Given the description of an element on the screen output the (x, y) to click on. 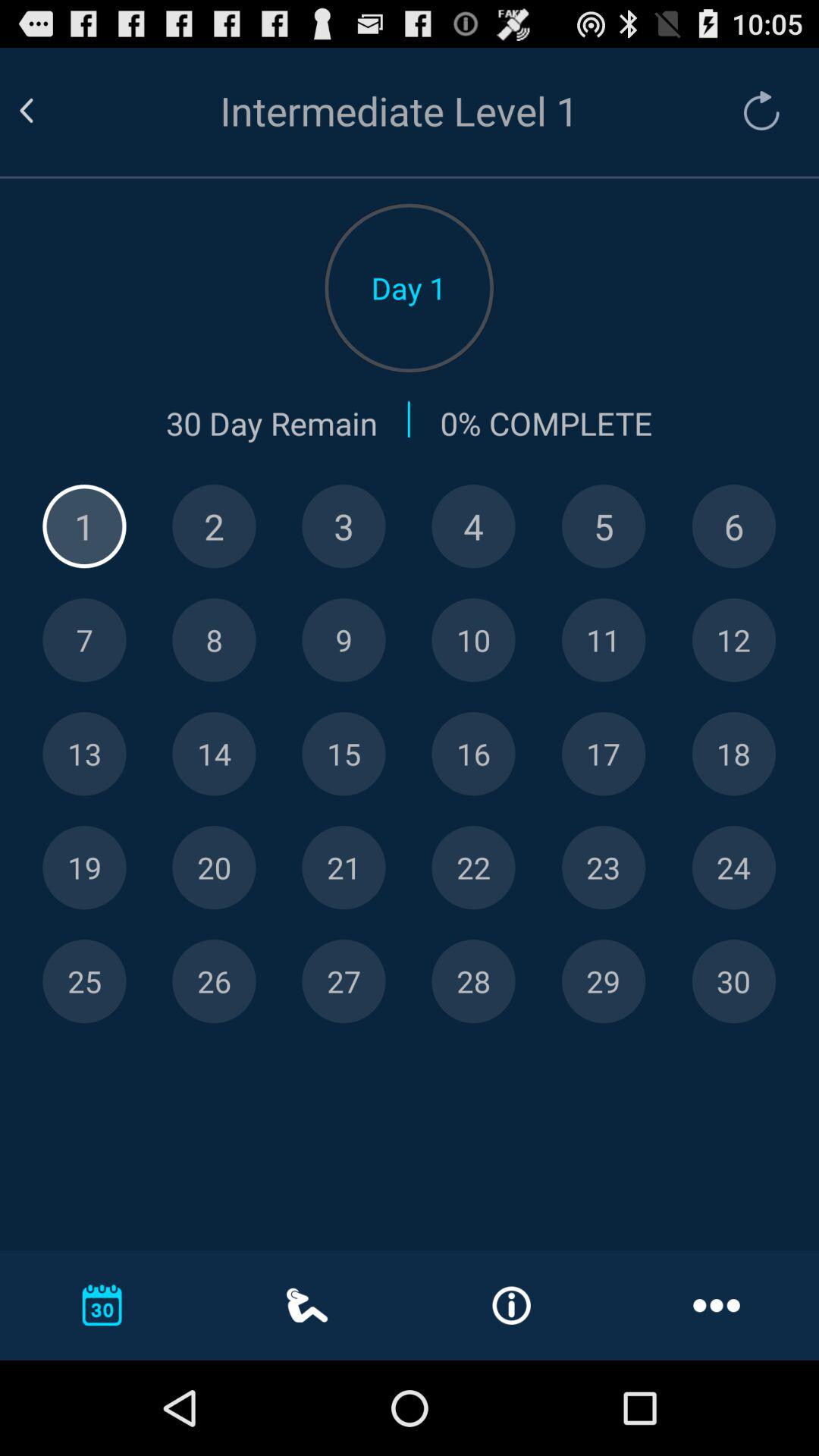
day 5 (603, 526)
